Given the description of an element on the screen output the (x, y) to click on. 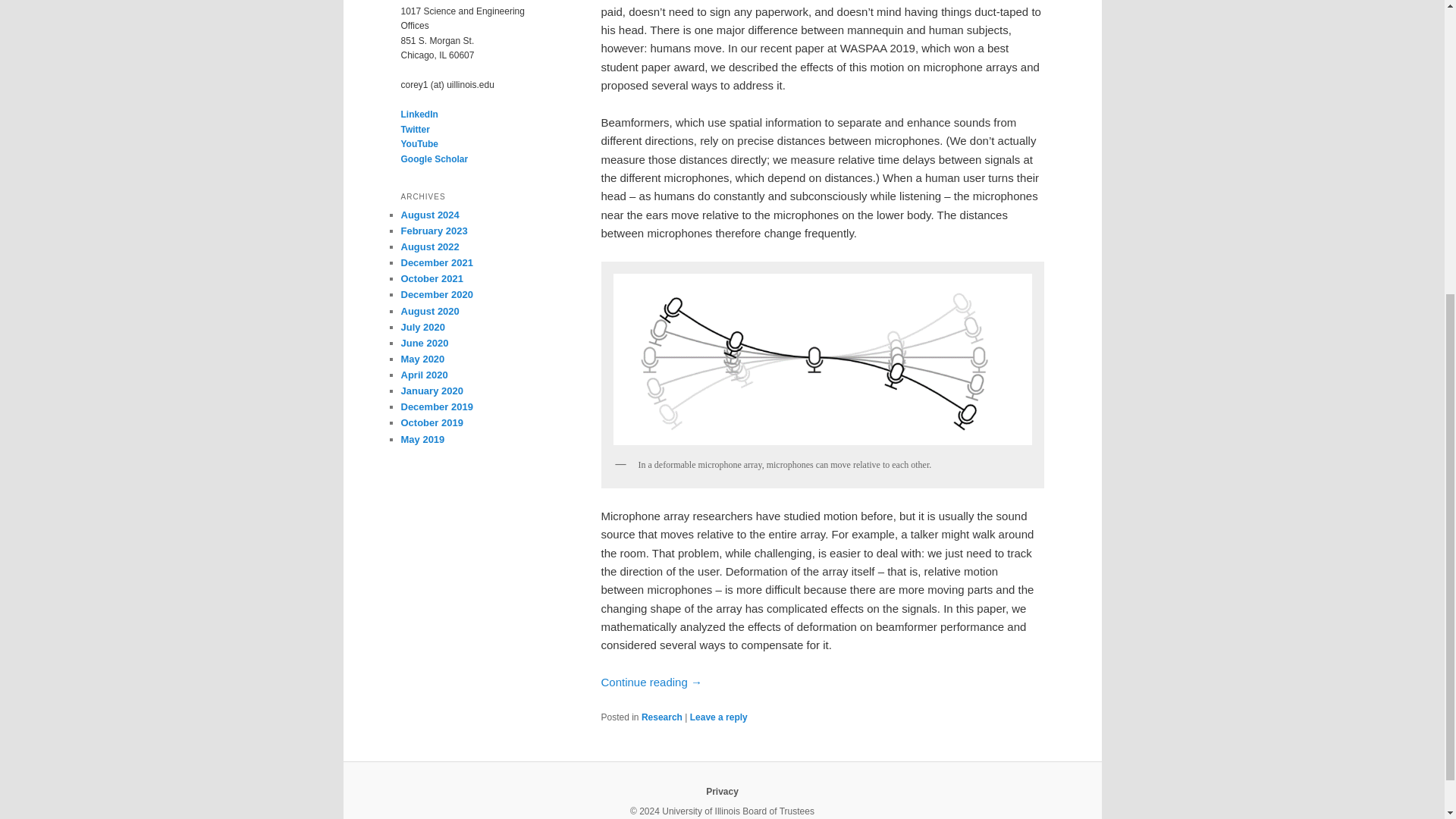
December 2019 (435, 406)
Leave a reply (719, 716)
December 2021 (435, 262)
August 2022 (429, 246)
October 2021 (431, 278)
October 2019 (431, 422)
April 2020 (423, 374)
December 2020 (435, 294)
January 2020 (431, 390)
Research (662, 716)
